Given the description of an element on the screen output the (x, y) to click on. 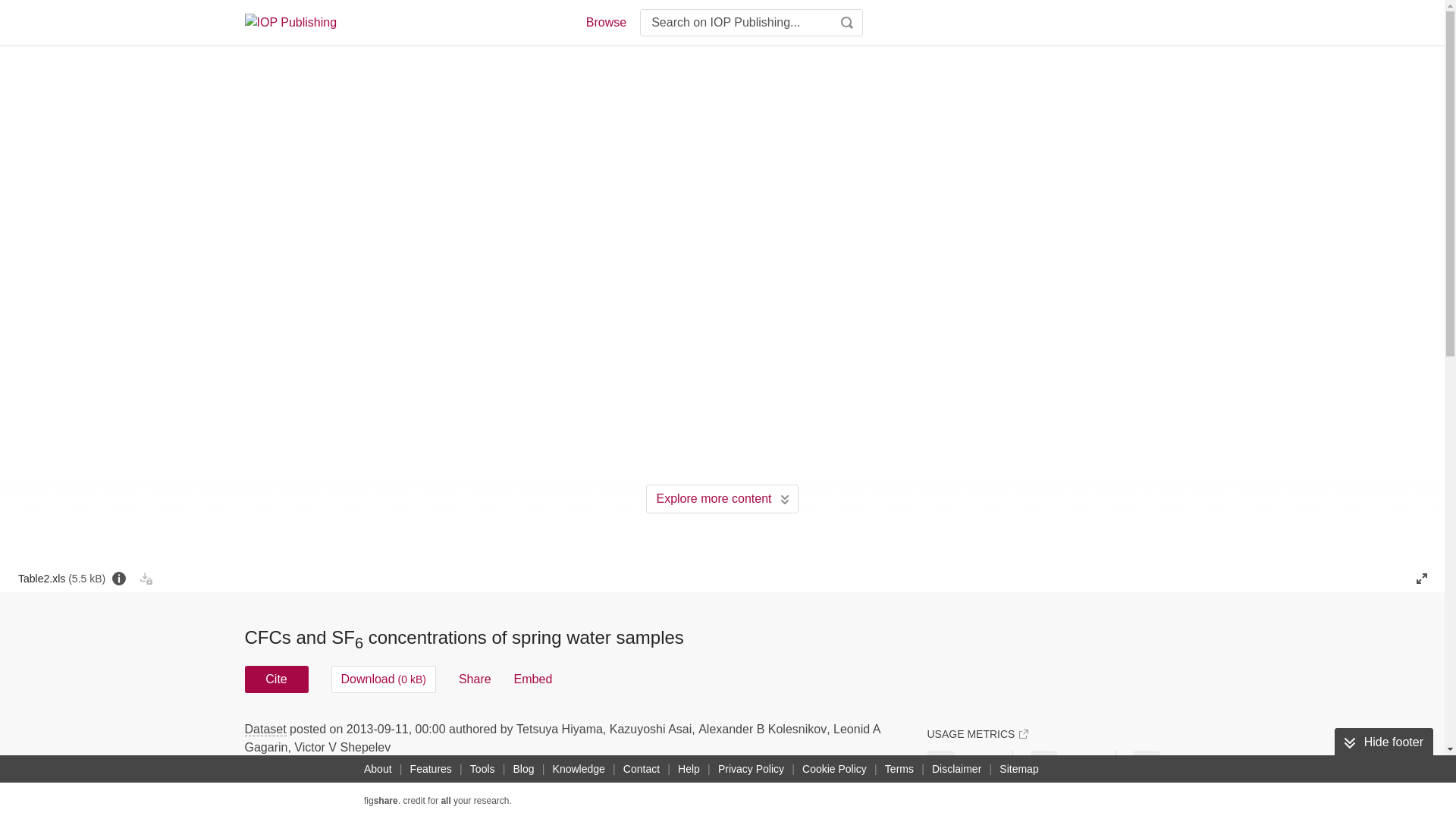
Features (431, 769)
Cite (275, 678)
About (377, 769)
Hide footer (1383, 742)
Embed (533, 678)
Explore more content (721, 498)
Tools (482, 769)
Blog (523, 769)
Table2.xls (60, 578)
Browse (605, 22)
Share (475, 678)
USAGE METRICS (976, 733)
